Given the description of an element on the screen output the (x, y) to click on. 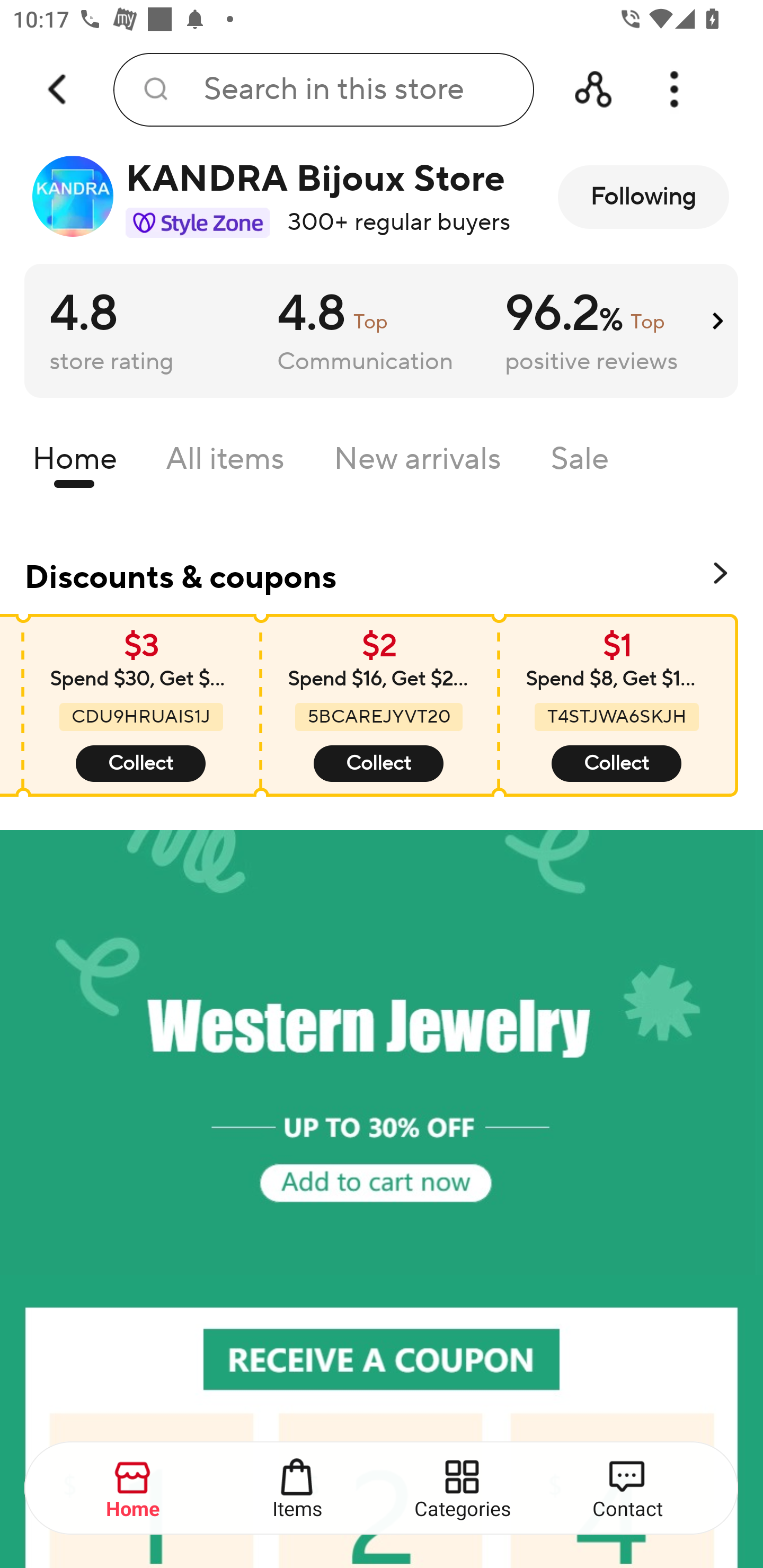
Search in this store (323, 90)
KANDRA Bijoux Store  300+ regular buyers (272, 196)
Following (643, 196)
Home (74, 463)
All items (225, 463)
New arrivals
 (418, 463)
Sale (579, 463)
Discounts & coupons (381, 573)
Collect (140, 763)
Collect (378, 763)
Collect (616, 763)
Home (133, 1488)
Items (297, 1488)
Categories (462, 1488)
Contact (627, 1488)
